Given the description of an element on the screen output the (x, y) to click on. 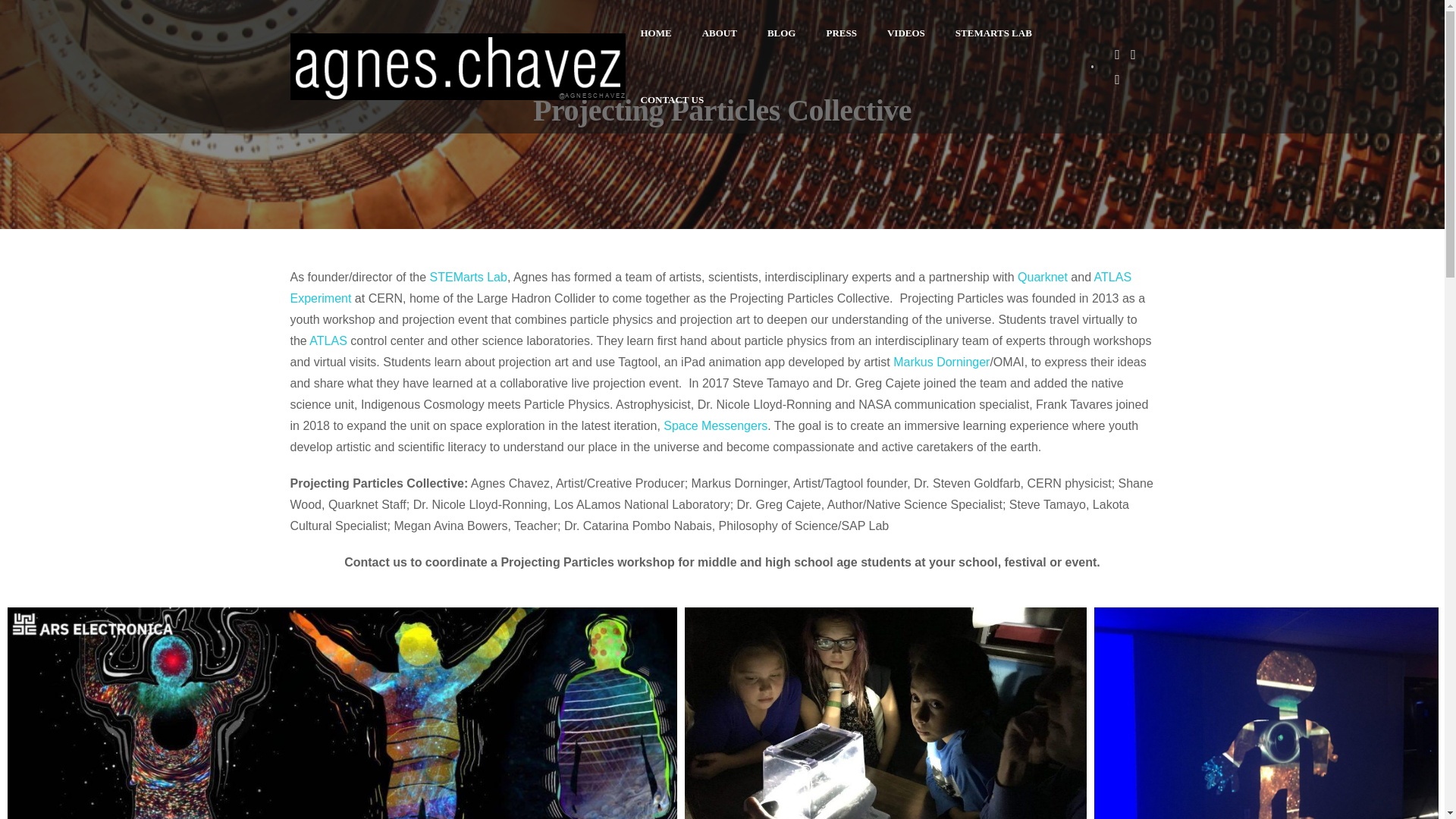
Markus Dorninger (939, 361)
PRESS (840, 33)
ATLAS Experiment (710, 287)
ABOUT (719, 33)
CONTACT US (671, 99)
Quarknet (1042, 277)
STEMARTS LAB (993, 33)
STEMarts Lab (467, 277)
Videos (906, 33)
Contact Us (671, 99)
